Given the description of an element on the screen output the (x, y) to click on. 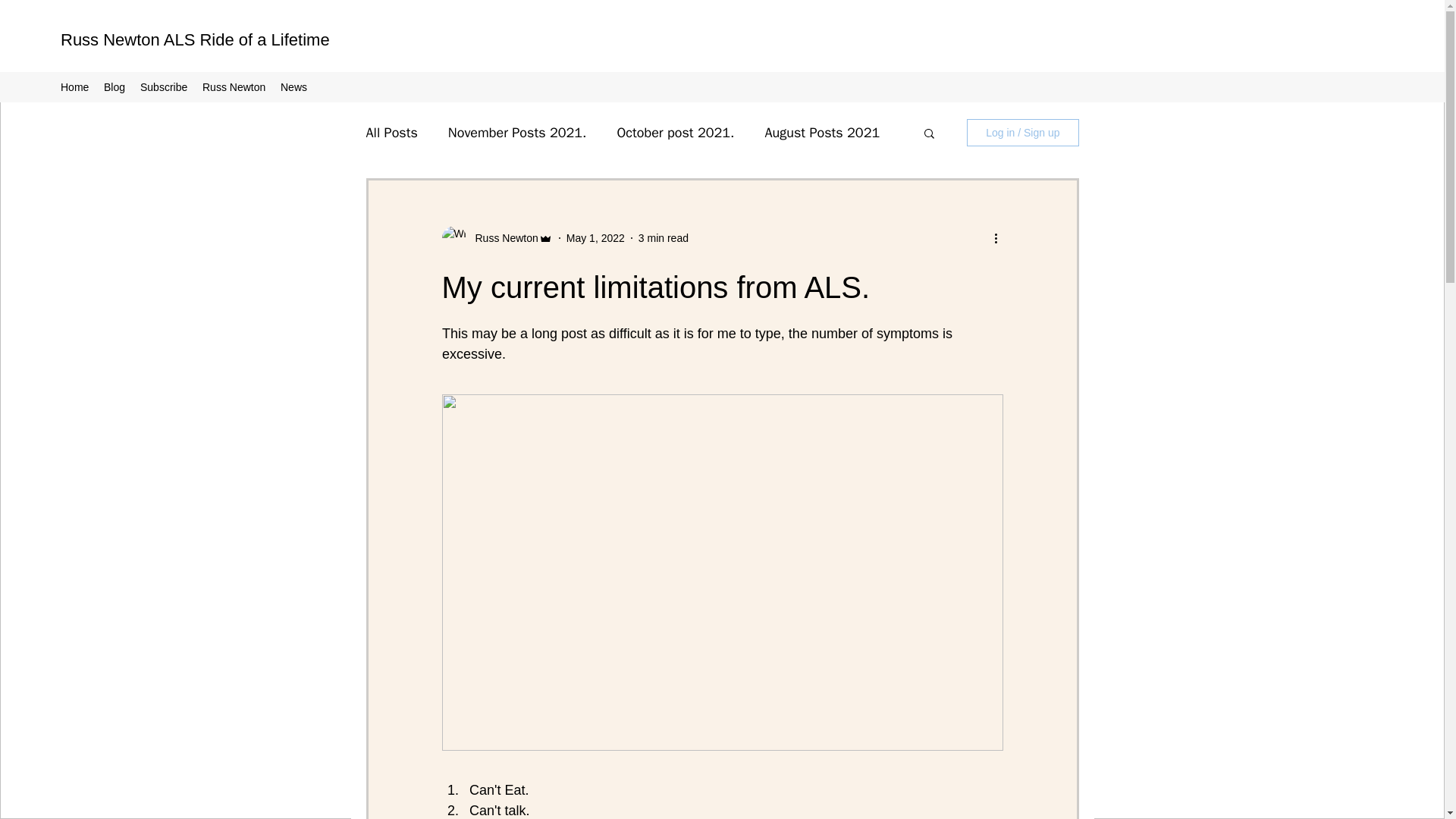
News (293, 87)
Blog (114, 87)
Russ Newton (501, 238)
May 1, 2022 (595, 237)
Russ Newton (234, 87)
Russ Newton ALS Ride of a Lifetime (195, 39)
November Posts 2021. (517, 132)
October post 2021. (674, 132)
All Posts (390, 132)
August Posts 2021 (821, 132)
